Given the description of an element on the screen output the (x, y) to click on. 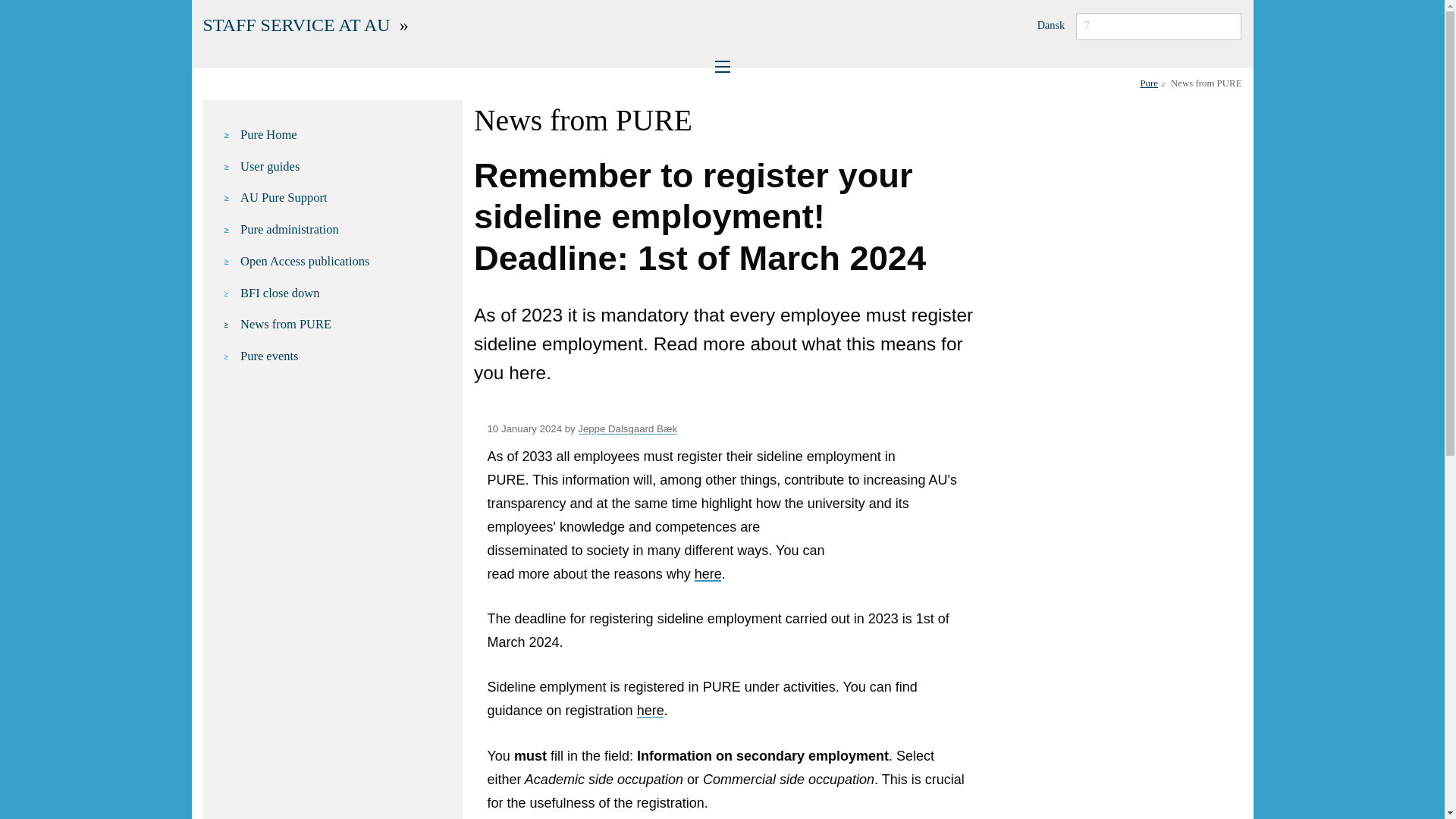
Pure (1148, 82)
Search (19, 7)
News from PURE (342, 324)
Pure administration (342, 229)
AU Pure Support (342, 198)
STAFF SERVICE AT AU (296, 25)
here (708, 573)
Dansk (1050, 24)
Pure Home (342, 134)
BFI close down (342, 293)
